Given the description of an element on the screen output the (x, y) to click on. 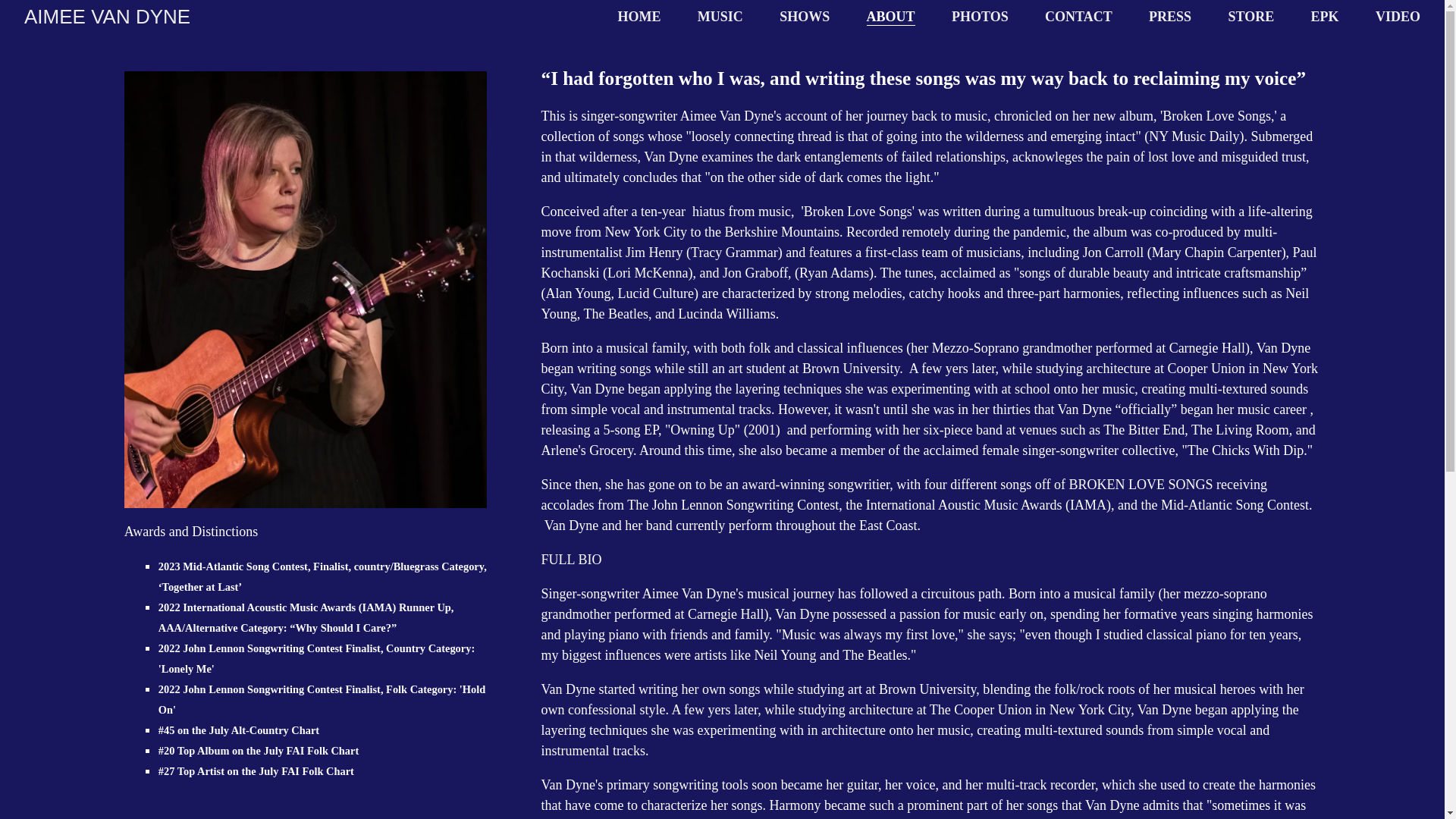
PRESS (1169, 16)
SHOWS (803, 16)
MUSIC (719, 16)
HOME (639, 16)
STORE (1251, 16)
CONTACT (1078, 16)
AIMEE VAN DYNE (107, 16)
ABOUT (890, 16)
VIDEO (1398, 16)
EPK (1325, 16)
